Given the description of an element on the screen output the (x, y) to click on. 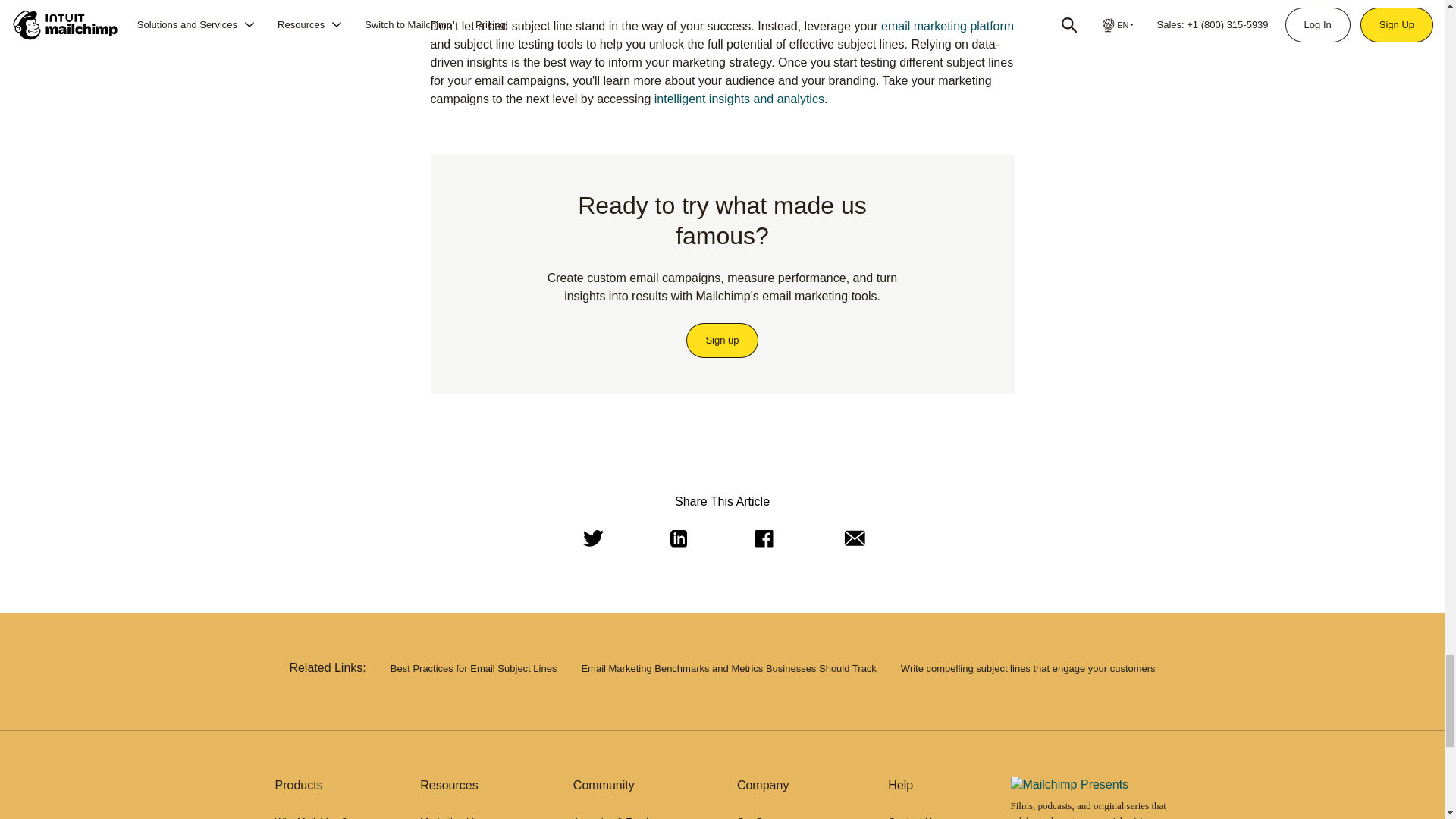
Share this article on Twitter (590, 538)
intelligent insights and analytics (738, 98)
Sign up (722, 340)
email marketing platform (946, 25)
